Given the description of an element on the screen output the (x, y) to click on. 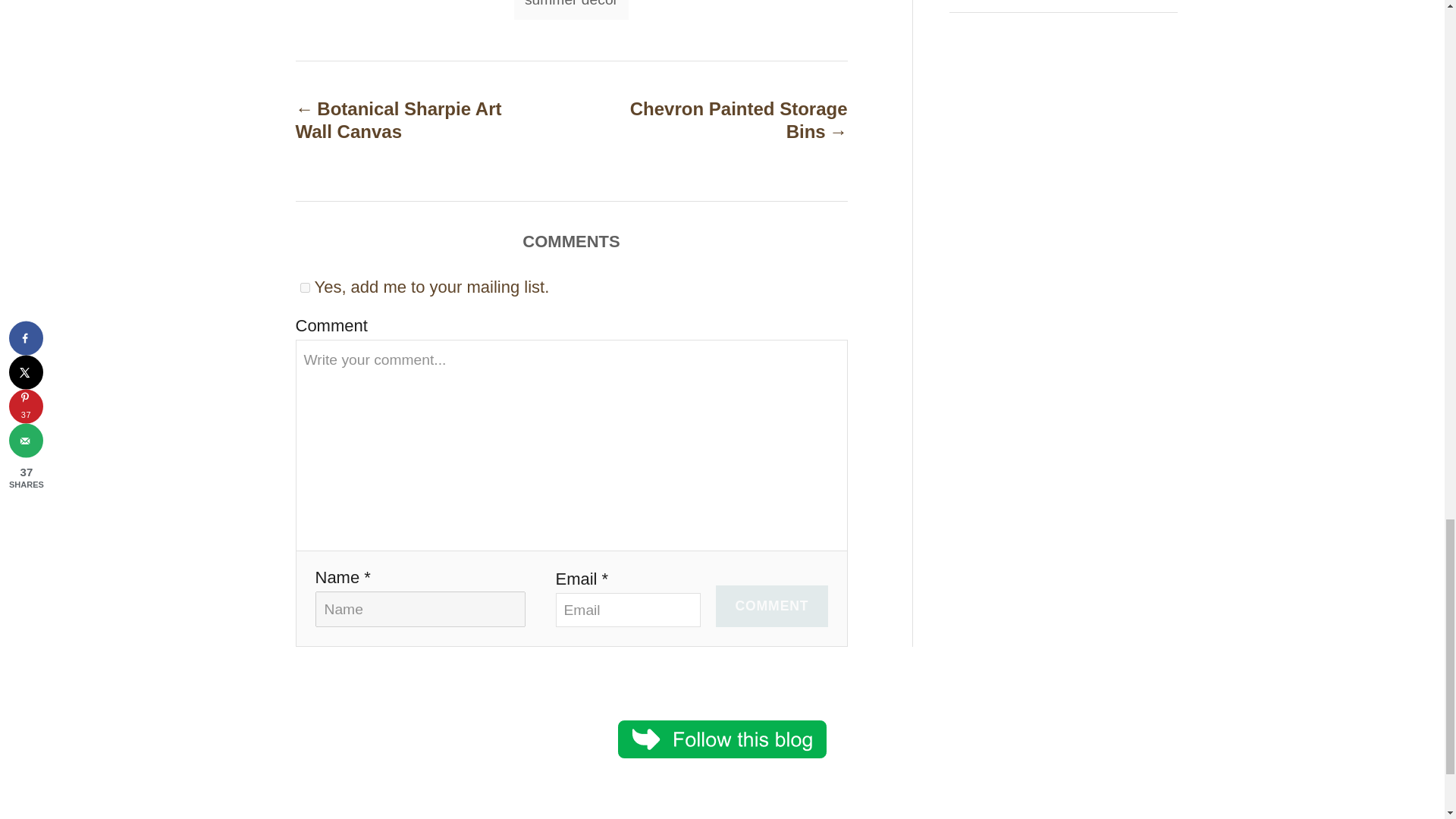
1 (304, 287)
